Given the description of an element on the screen output the (x, y) to click on. 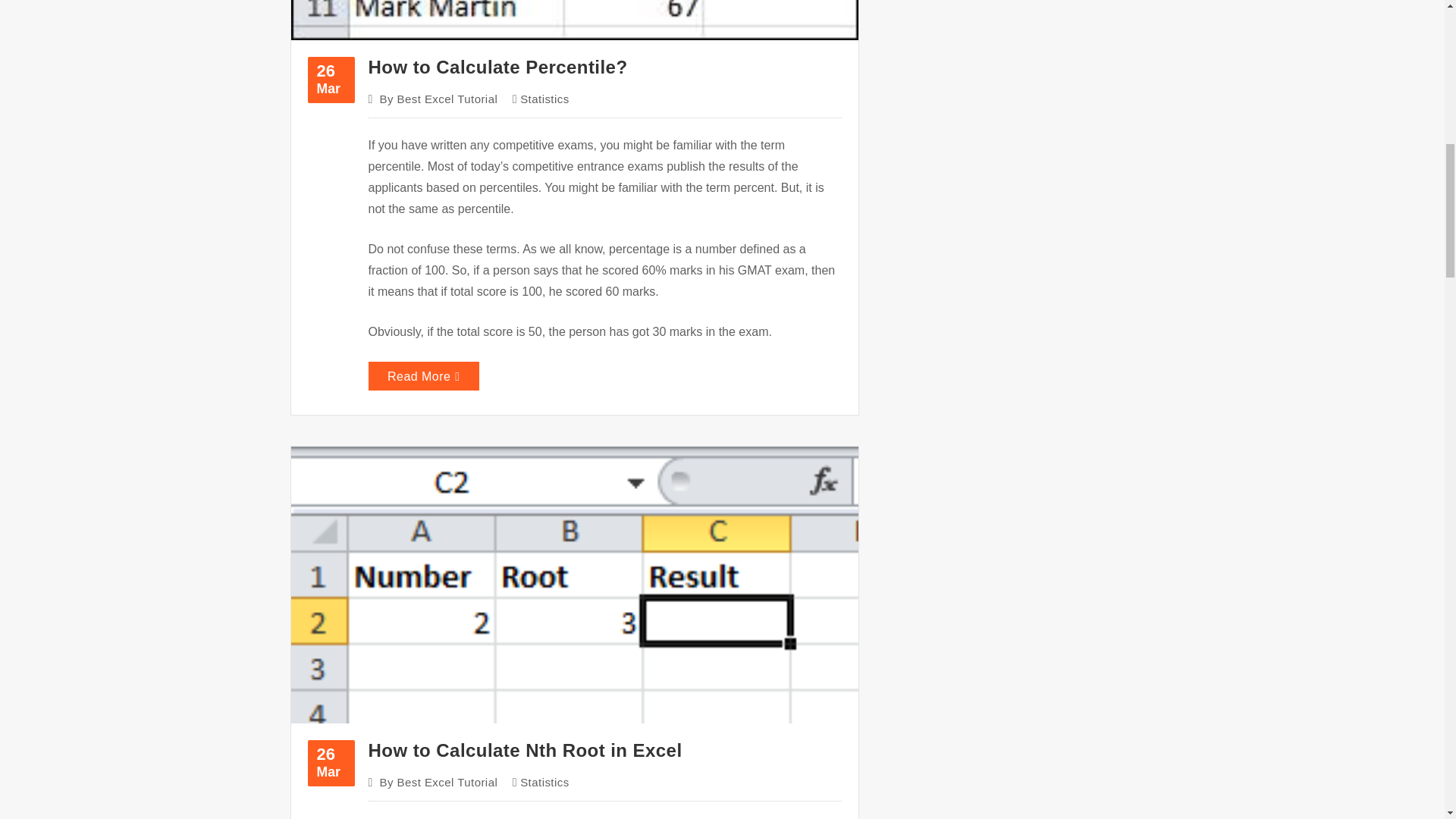
By Best Excel Tutorial (437, 98)
Statistics (544, 98)
How to Calculate Nth Root in Excel (525, 750)
How to Calculate Percentile? (330, 763)
By Best Excel Tutorial (497, 66)
Read More (437, 782)
Statistics (330, 79)
